Given the description of an element on the screen output the (x, y) to click on. 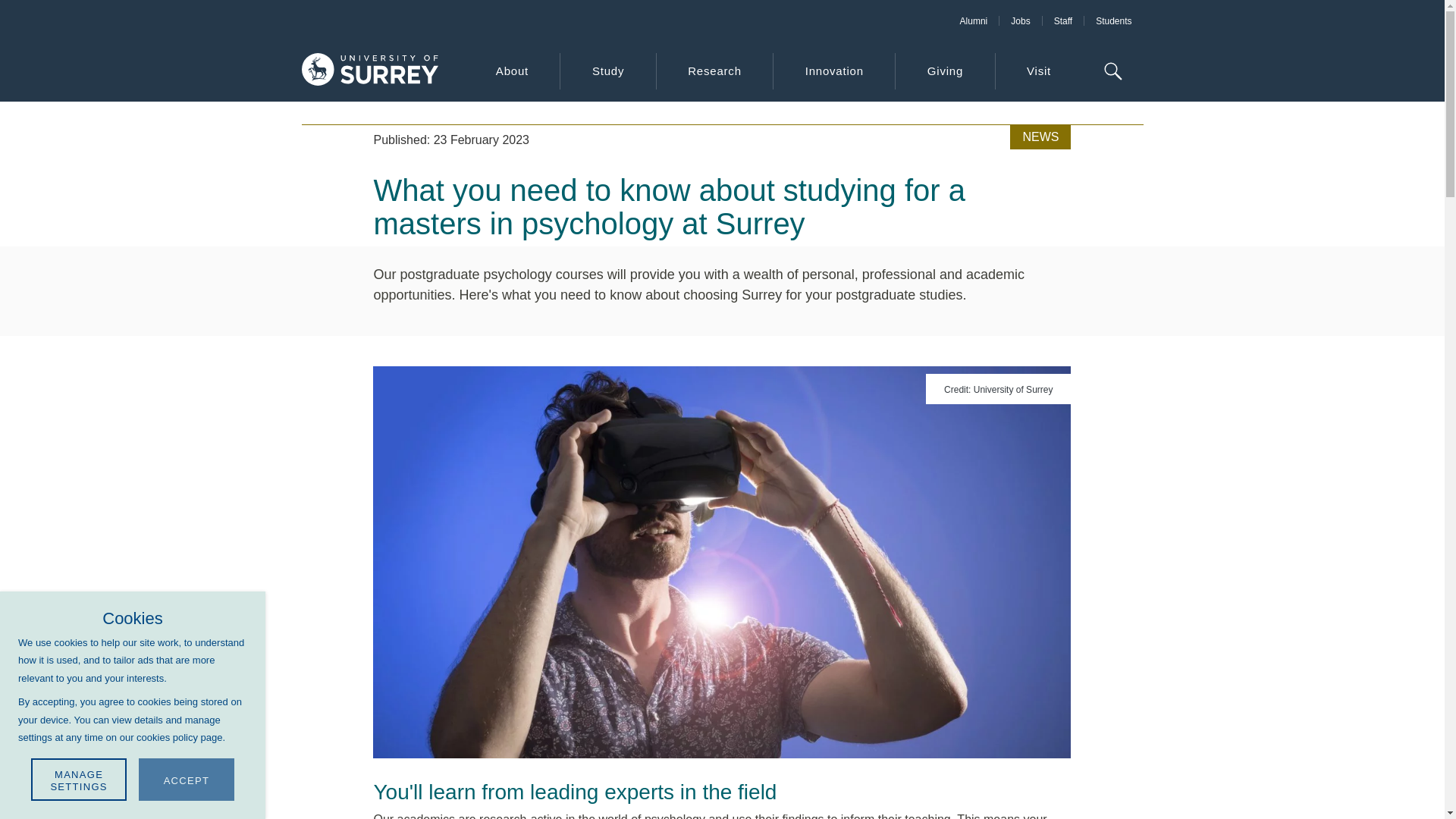
ACCEPT (186, 779)
Jobs (1019, 20)
Students (1113, 20)
MANAGE SETTINGS (78, 779)
Staff (1062, 20)
Alumni (973, 20)
About (511, 71)
Home (369, 71)
